Given the description of an element on the screen output the (x, y) to click on. 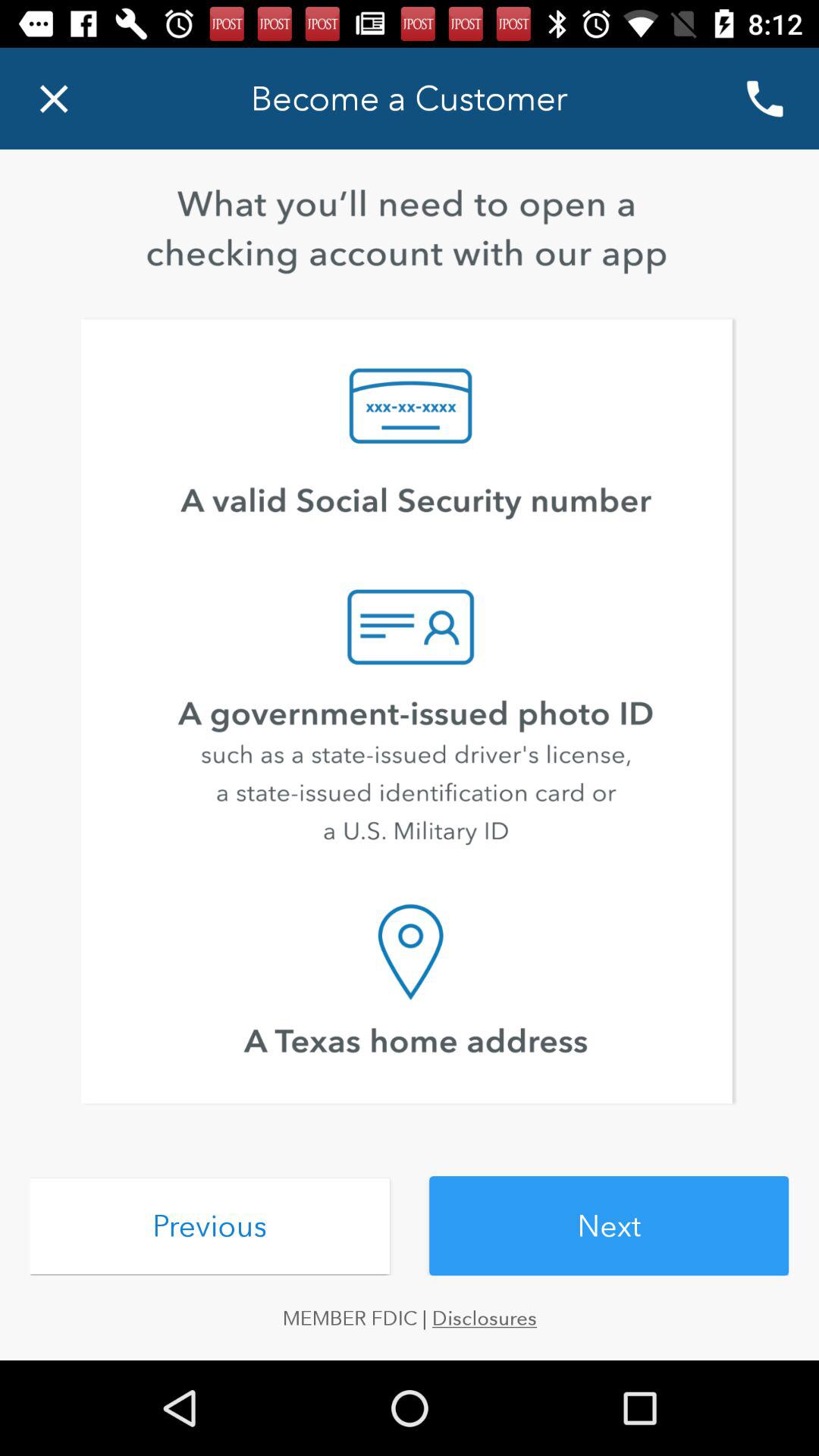
jump to member fdic | disclosures (409, 1317)
